Given the description of an element on the screen output the (x, y) to click on. 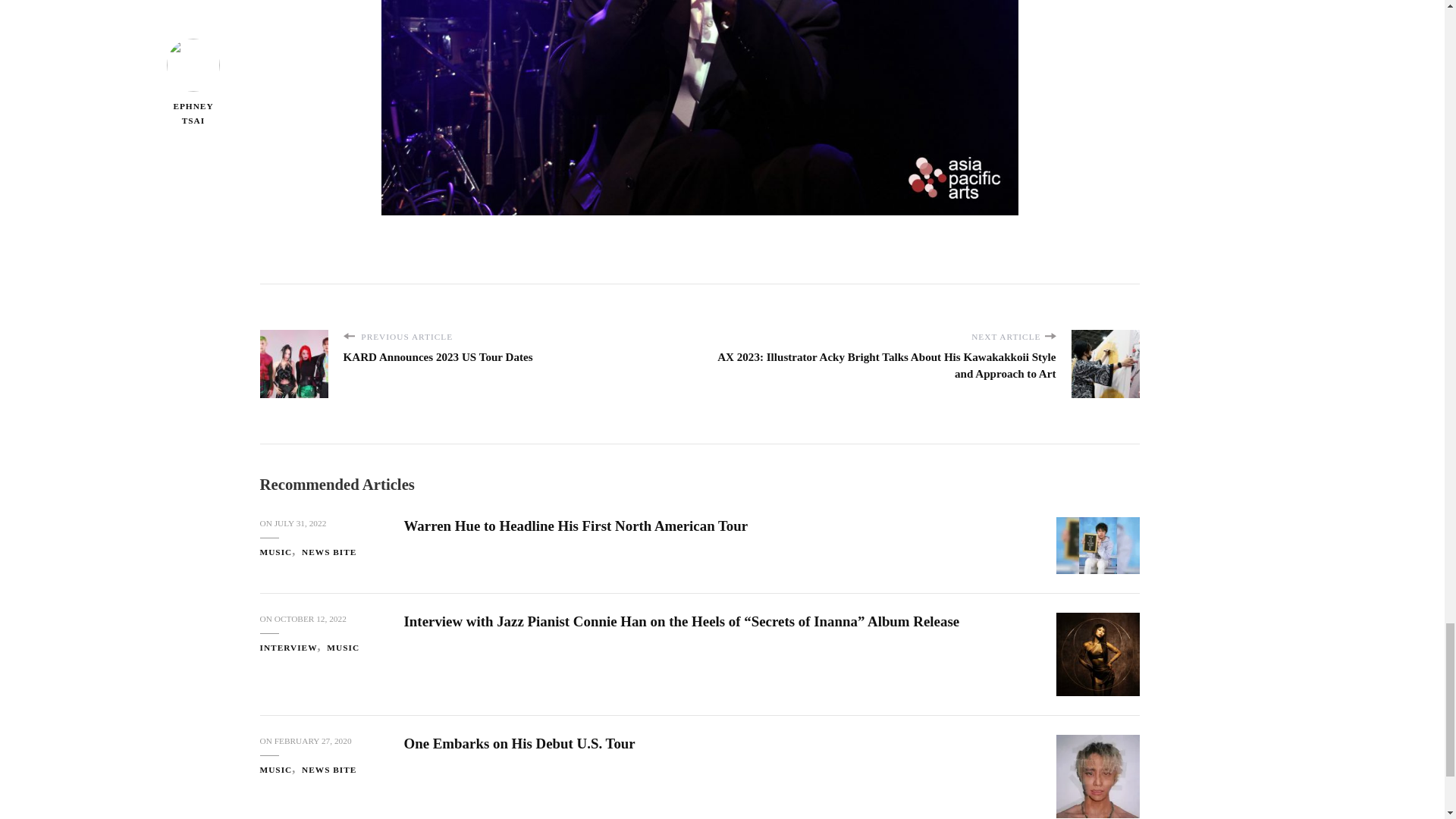
JULY 31, 2022 (300, 522)
NEWS BITE (328, 552)
Warren Hue to Headline His First North American Tour (575, 525)
MUSIC (279, 552)
